Given the description of an element on the screen output the (x, y) to click on. 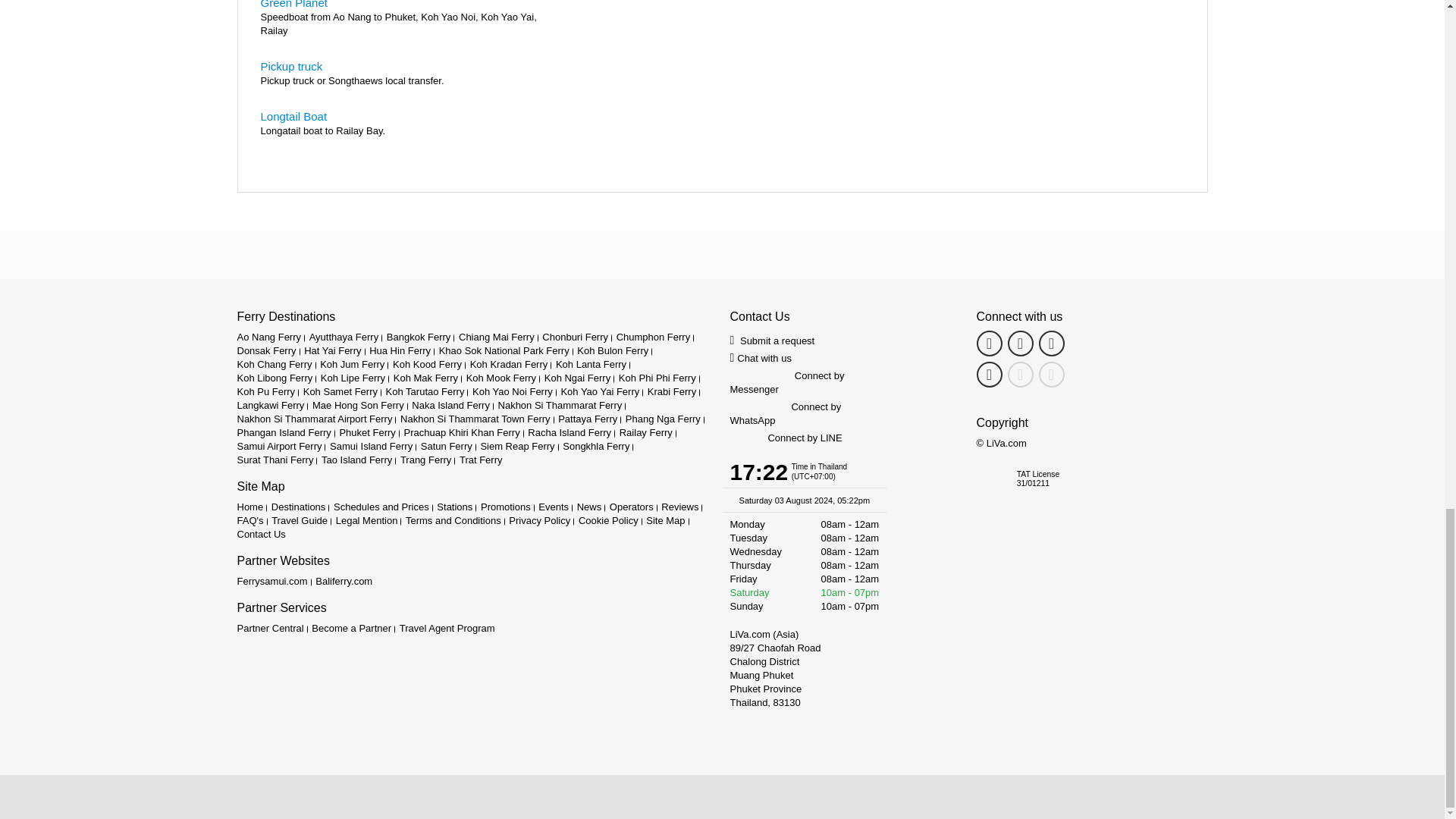
www.ferrysamui.com (271, 581)
www.baliferry.com (343, 581)
